Given the description of an element on the screen output the (x, y) to click on. 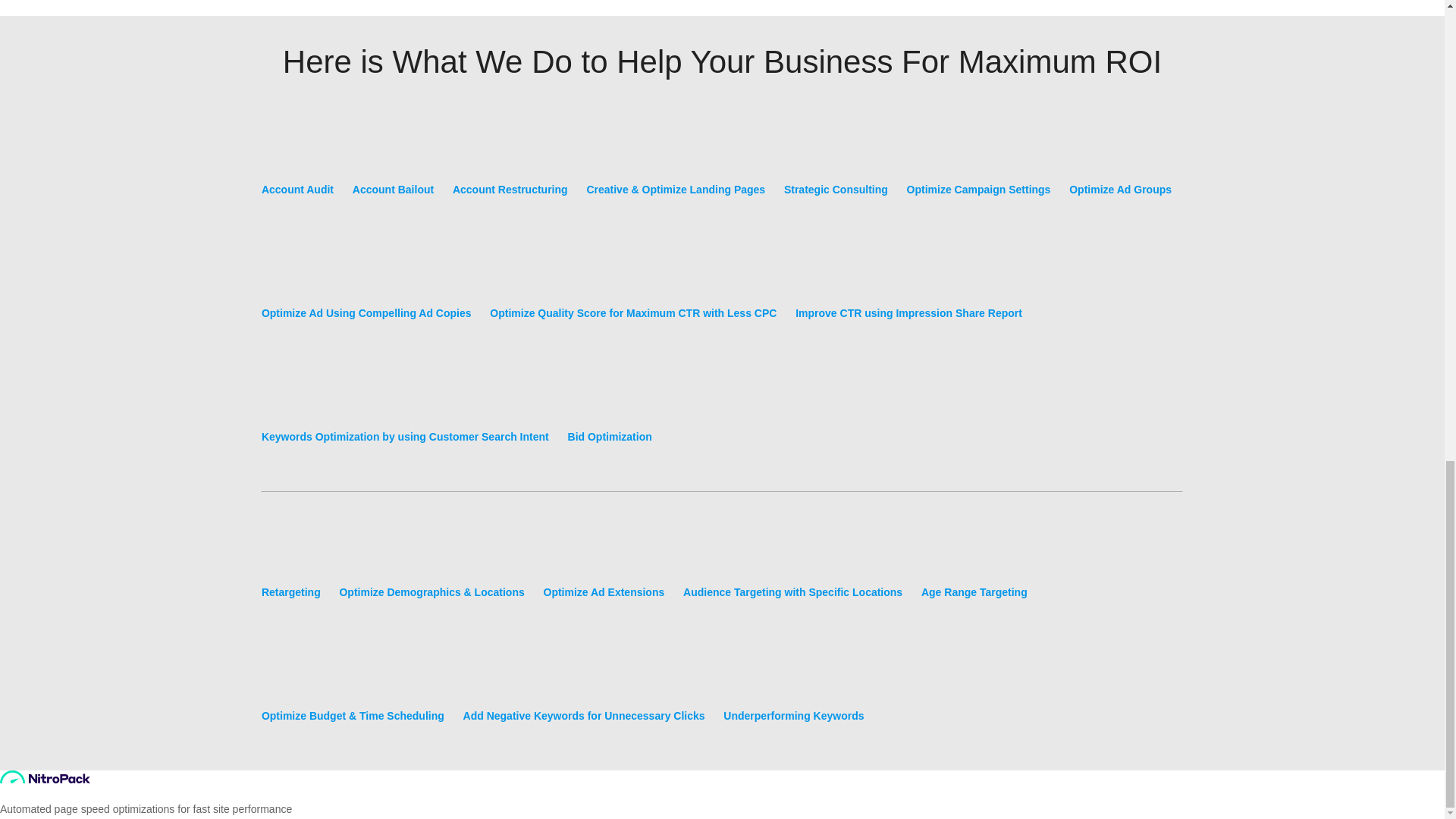
Account Restructuring (509, 159)
Age Range Targeting (974, 562)
Improve CTR using Impression Share Report (908, 282)
Optimize Ad Groups (1120, 159)
Account Bailout (392, 159)
Audience Targeting with Specific Locations (792, 562)
Keywords Optimization by using Customer Search Intent (405, 406)
Account Audit (297, 159)
Bid Optimization (609, 406)
Optimize Campaign Settings (979, 159)
Optimize Quality Score for Maximum CTR with Less CPC (632, 282)
Strategic Consulting (836, 159)
Add Negative Keywords for Unnecessary Clicks (583, 686)
Retargeting (291, 562)
Optimize Ad Using Compelling Ad Copies (366, 282)
